Given the description of an element on the screen output the (x, y) to click on. 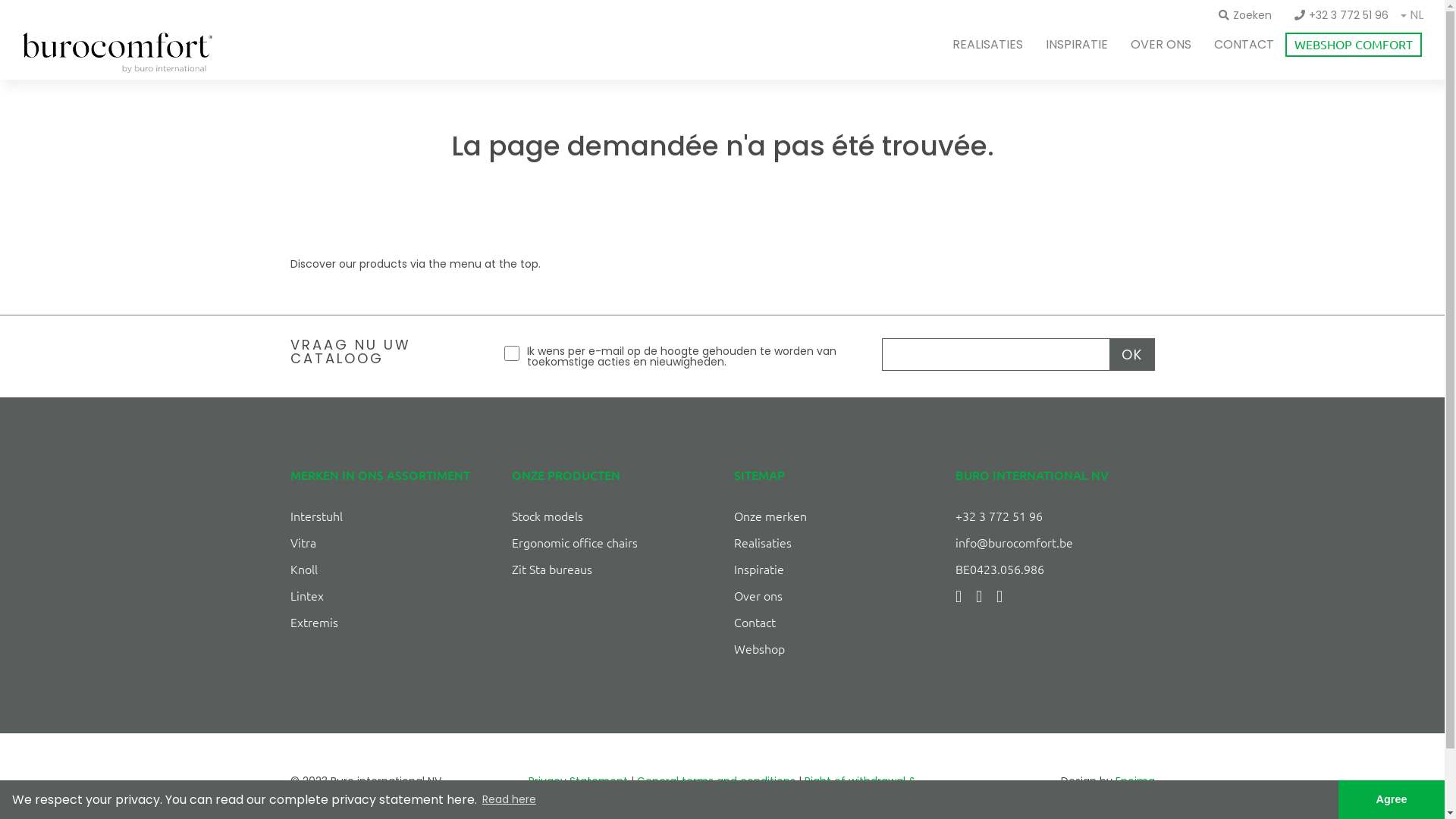
+32 3 772 51 96 Element type: text (998, 515)
Inspiratie Element type: text (759, 568)
OVER ONS Element type: text (1160, 44)
Stock models Element type: text (547, 515)
Encima Element type: text (1134, 780)
Right of withdrawal & Shipping and delivery policy Element type: text (781, 791)
Onze merken Element type: text (770, 515)
REALISATIES Element type: text (987, 44)
Webshop Element type: text (759, 648)
Read here Element type: text (509, 799)
Realisaties Element type: text (762, 541)
Zoeken Element type: text (1245, 15)
WEBSHOP COMFORT Element type: text (1353, 44)
Knoll Element type: text (302, 568)
BE0423.056.986 Element type: text (999, 568)
Vitra Element type: text (302, 541)
Extremis Element type: text (313, 621)
Ergonomic office chairs Element type: text (574, 541)
Lintex Element type: text (306, 594)
Privacy Statement Element type: text (577, 780)
logo-buro Element type: hover (117, 52)
General terms and conditions Element type: text (716, 780)
Contact Element type: text (754, 621)
NL Element type: text (1416, 16)
Zit Sta bureaus Element type: text (551, 568)
Interstuhl Element type: text (315, 515)
INSPIRATIE Element type: text (1076, 44)
Over ons Element type: text (758, 594)
info@burocomfort.be Element type: text (1014, 541)
OK Element type: text (1131, 354)
CONTACT Element type: text (1243, 44)
+32 3 772 51 96 Element type: text (1341, 15)
